Given the description of an element on the screen output the (x, y) to click on. 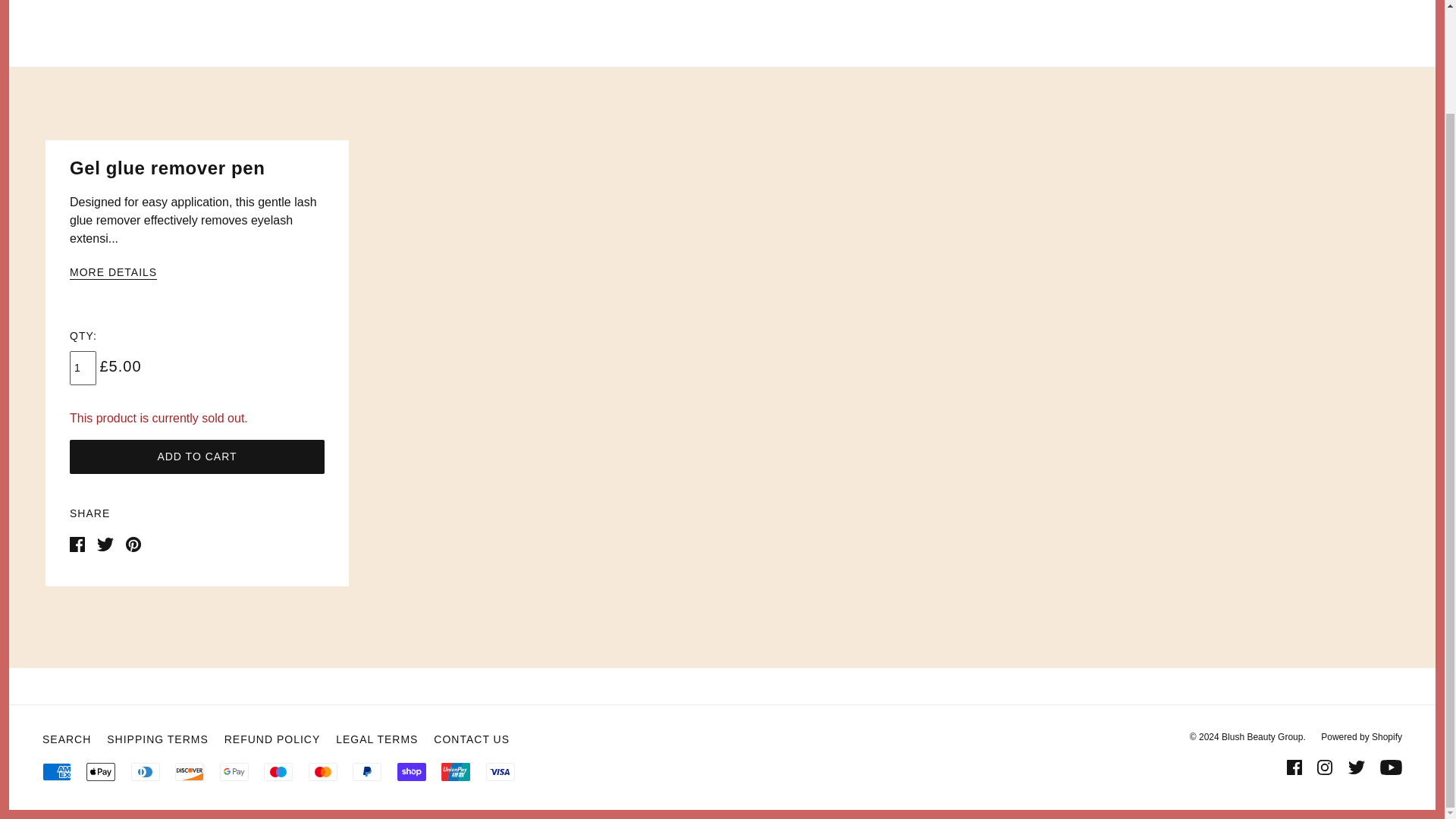
Mastercard (322, 771)
Contact Us (471, 739)
Visa (500, 771)
Google Pay (233, 771)
Search (66, 739)
American Express (56, 771)
Shop Pay (411, 771)
Shipping Terms (157, 739)
Diners Club (145, 771)
Youtube (1390, 767)
